Given the description of an element on the screen output the (x, y) to click on. 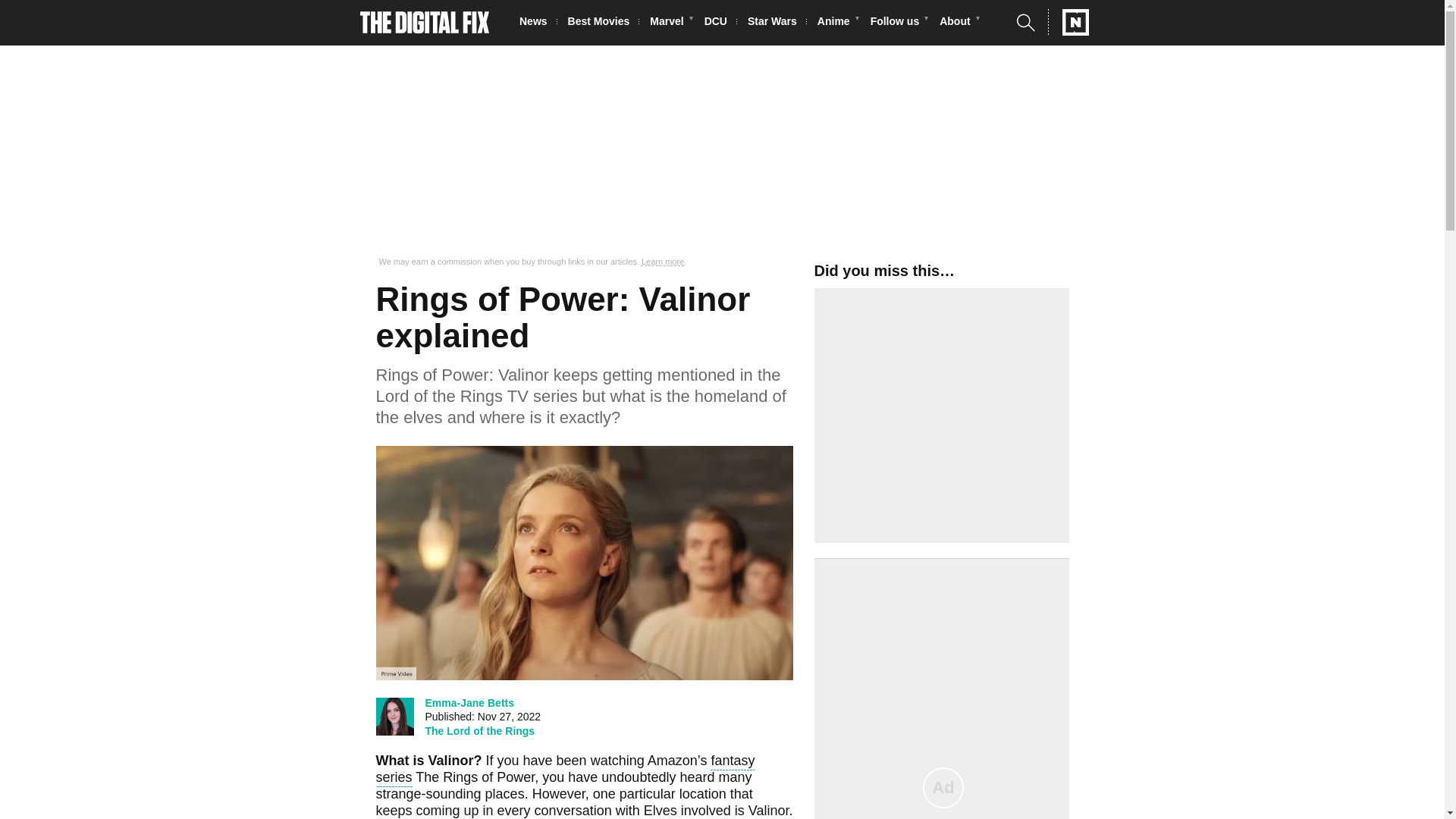
fantasy series (565, 770)
Follow us (899, 22)
Marvel (671, 22)
Emma-Jane Betts (469, 702)
Star Wars News (777, 22)
Anime News (837, 22)
Marvel Cinematic Universe News (671, 22)
Star Wars (777, 22)
The Digital Fix (424, 22)
Network N Media (1068, 22)
